Given the description of an element on the screen output the (x, y) to click on. 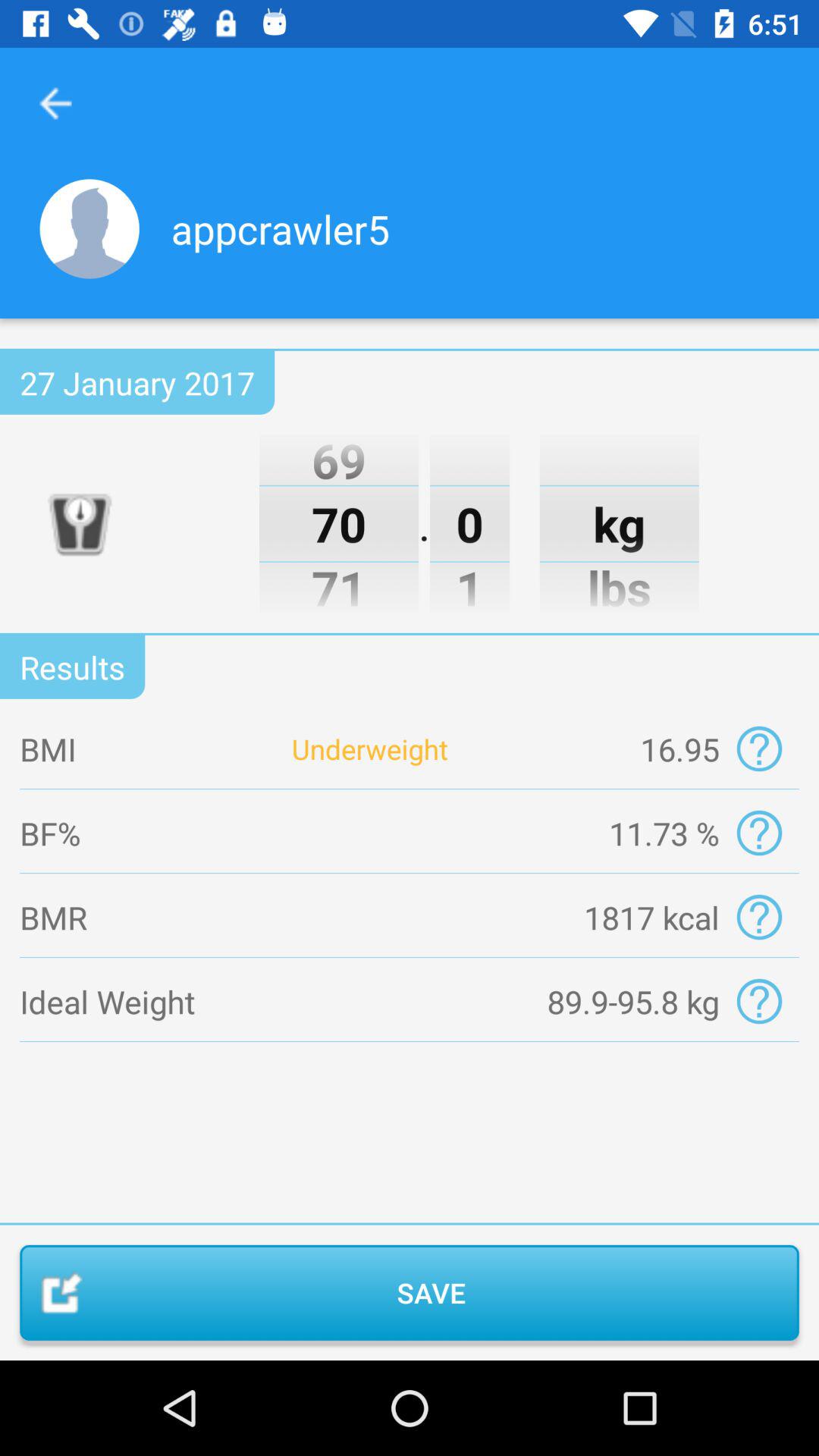
more info (759, 833)
